Given the description of an element on the screen output the (x, y) to click on. 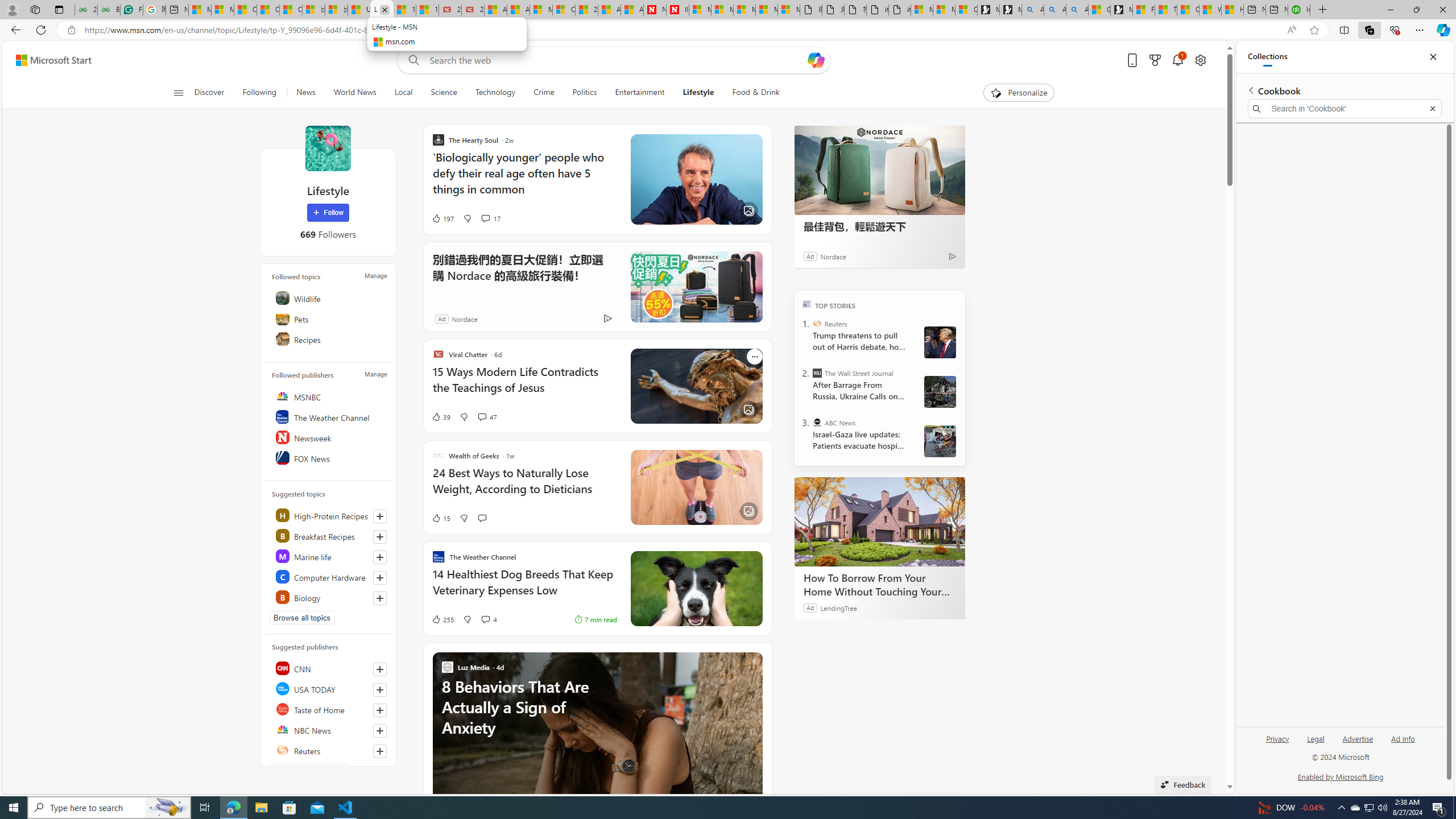
View site information (70, 29)
Follow this source (379, 751)
Close tab (385, 9)
Exit search (1432, 108)
Refresh (40, 29)
Technology (494, 92)
Reuters (328, 750)
How To Borrow From Your Home Without Touching Your Mortgage (879, 584)
Taste of Home (328, 709)
Collections (1267, 56)
Newsweek (328, 437)
Manage (375, 374)
